Given the description of an element on the screen output the (x, y) to click on. 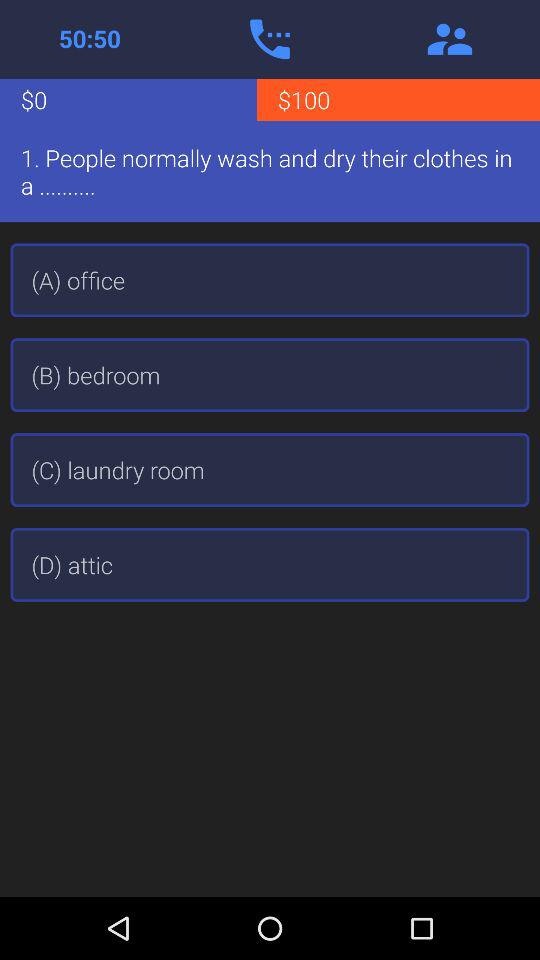
open phone app (270, 39)
